Given the description of an element on the screen output the (x, y) to click on. 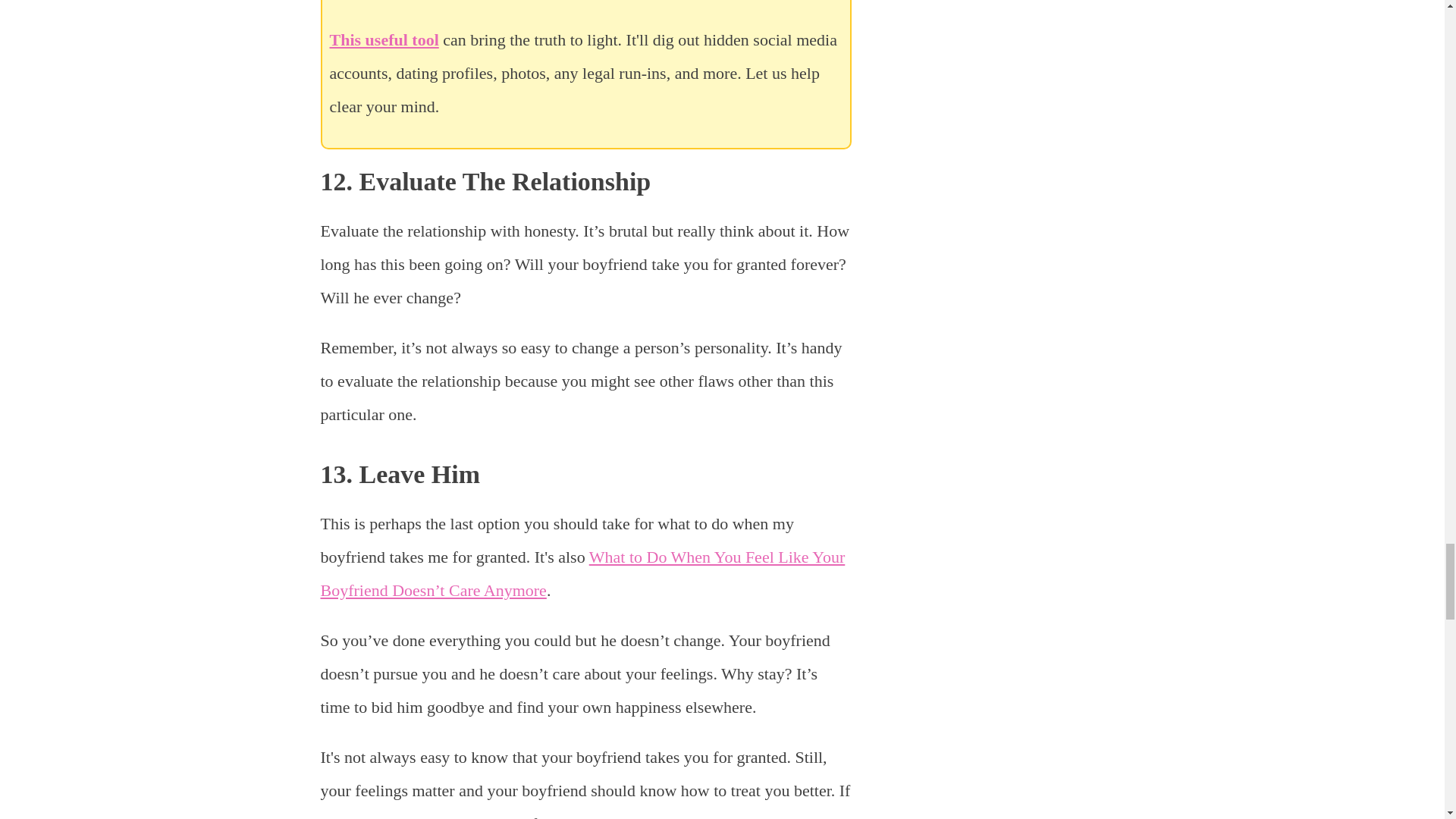
This useful tool (383, 39)
